Given the description of an element on the screen output the (x, y) to click on. 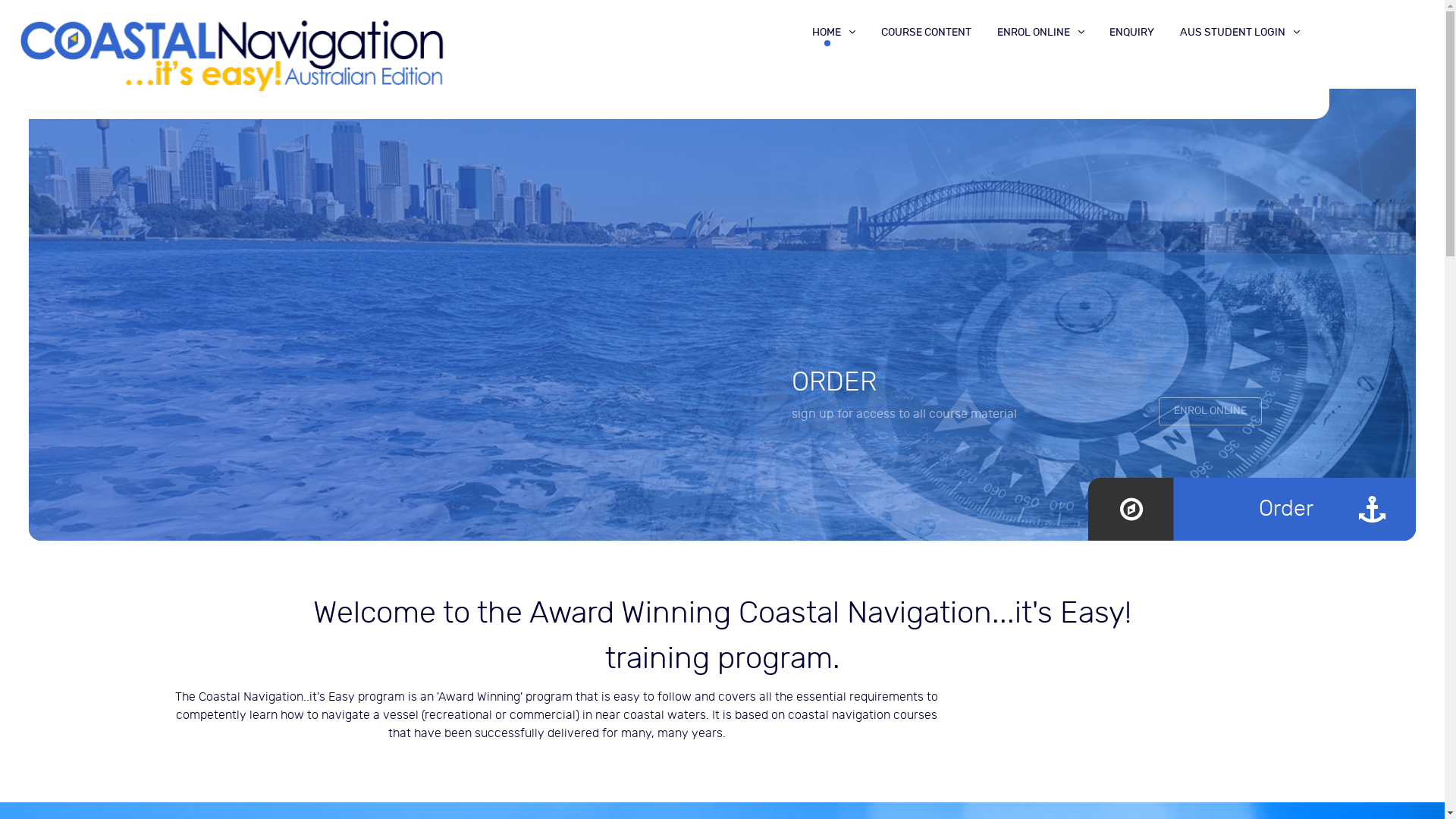
ENROL ONLINE Element type: text (1209, 411)
ENQUIRY Element type: text (1131, 32)
AUS STUDENT LOGIN Element type: text (1239, 32)
ENROL ONLINE Element type: text (1040, 32)
COURSE CONTENT Element type: text (925, 32)
HOME Element type: text (834, 32)
Coastal Navigation Element type: hover (232, 55)
